Given the description of an element on the screen output the (x, y) to click on. 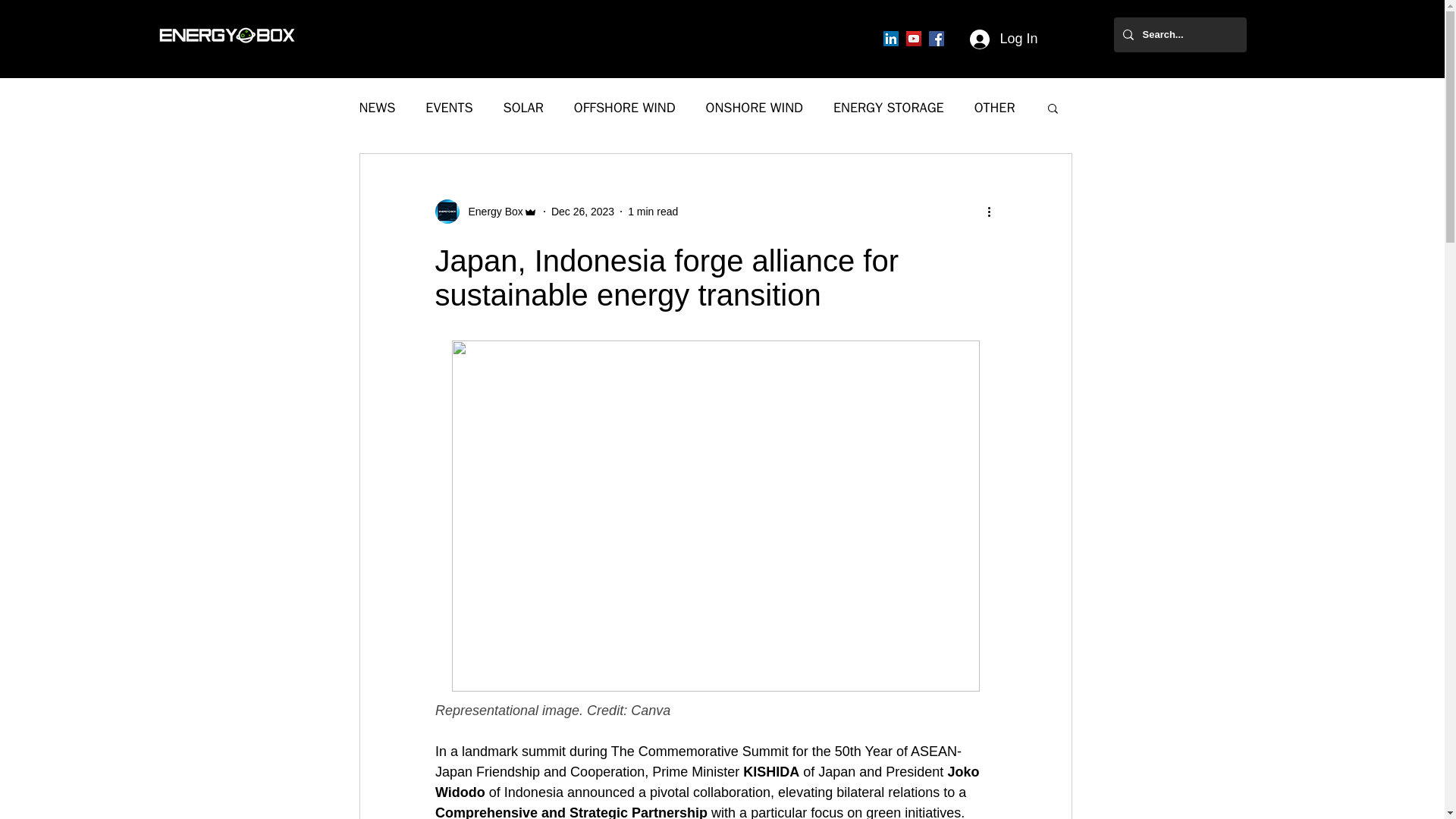
ONSHORE WIND (754, 107)
NEWS (377, 107)
Energy Box (491, 211)
ENERGY STORAGE (887, 107)
Log In (1000, 39)
EVENTS (448, 107)
SOLAR (523, 107)
Dec 26, 2023 (582, 210)
1 min read (652, 210)
OFFSHORE WIND (624, 107)
